Given the description of an element on the screen output the (x, y) to click on. 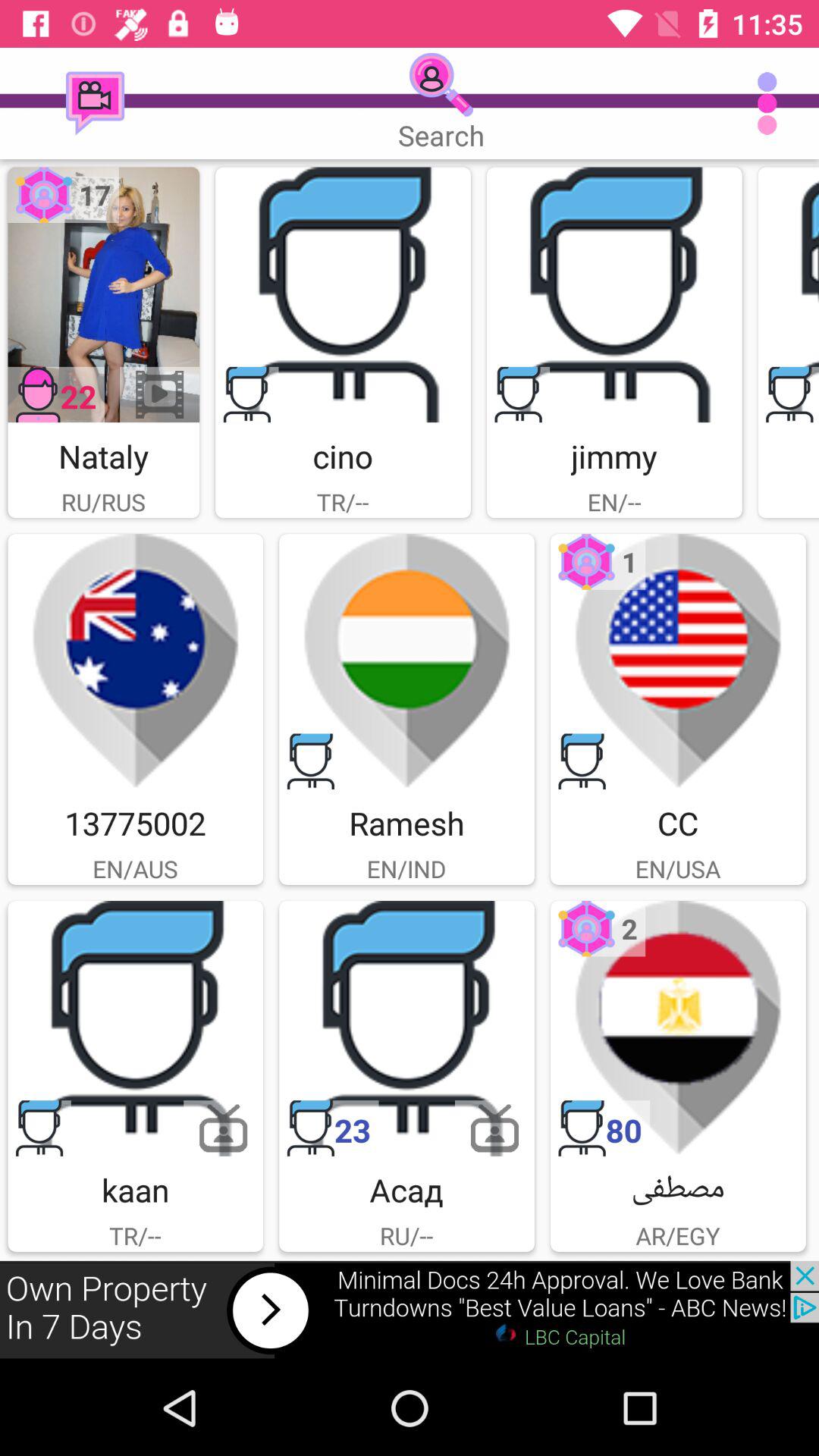
click the jimmy icon (614, 294)
